Given the description of an element on the screen output the (x, y) to click on. 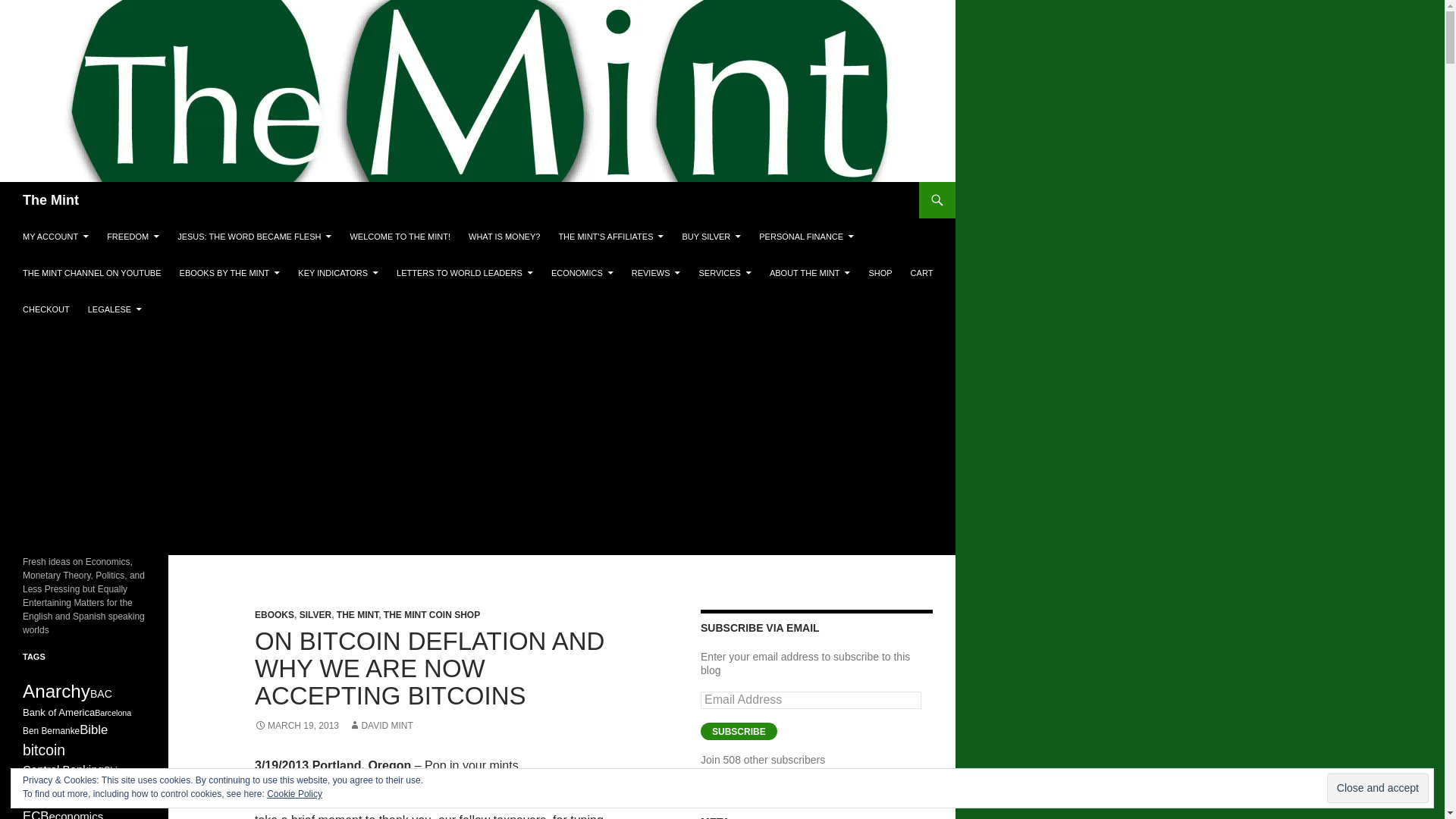
Close and accept (1377, 788)
The Mint (50, 199)
FREEDOM (132, 236)
JESUS: THE WORD BECAME FLESH (254, 236)
MY ACCOUNT (55, 236)
